Given the description of an element on the screen output the (x, y) to click on. 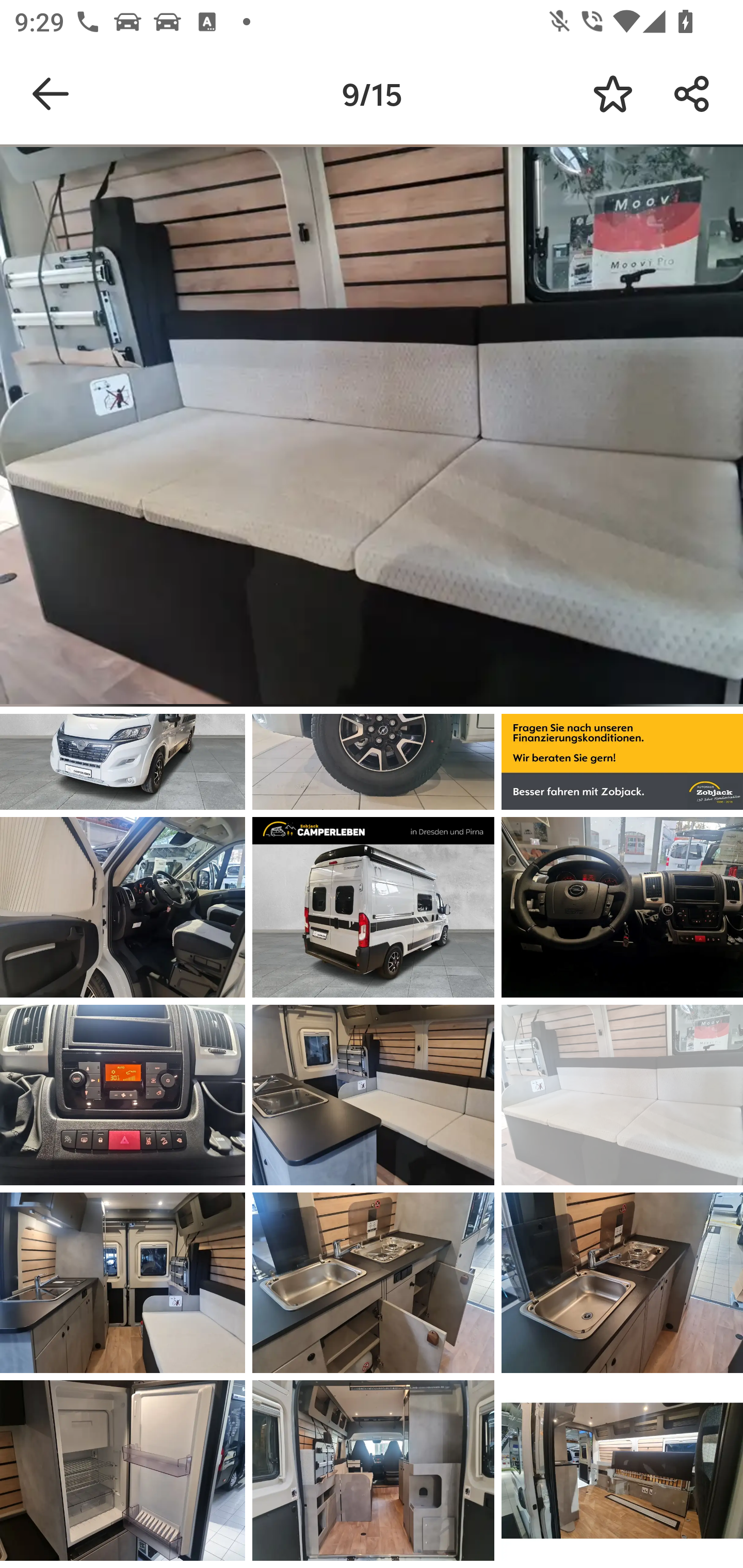
back button (50, 93)
share button (692, 93)
main image view (371, 428)
image (122, 906)
image (373, 906)
image (622, 906)
image (122, 1095)
image (373, 1095)
image (622, 1095)
image (122, 1283)
image (373, 1283)
image (622, 1283)
image (122, 1469)
image (373, 1469)
image (622, 1469)
